Given the description of an element on the screen output the (x, y) to click on. 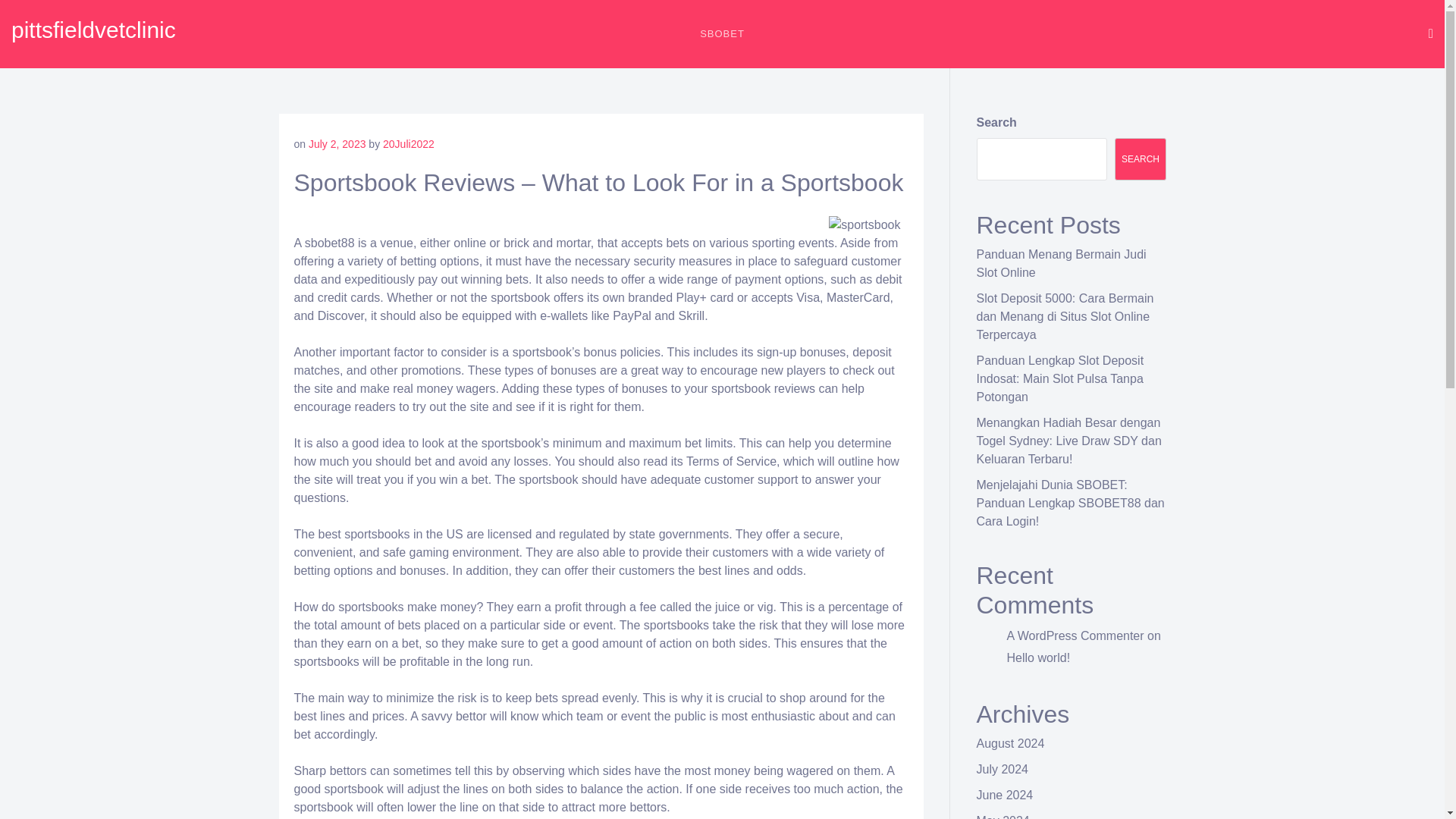
Panduan Menang Bermain Judi Slot Online (1061, 263)
July 2024 (1002, 768)
June 2024 (1004, 794)
pittsfieldvetclinic (93, 29)
Hello world! (1038, 657)
SBOBET (721, 33)
20Juli2022 (407, 143)
sbobet88 (329, 242)
